Given the description of an element on the screen output the (x, y) to click on. 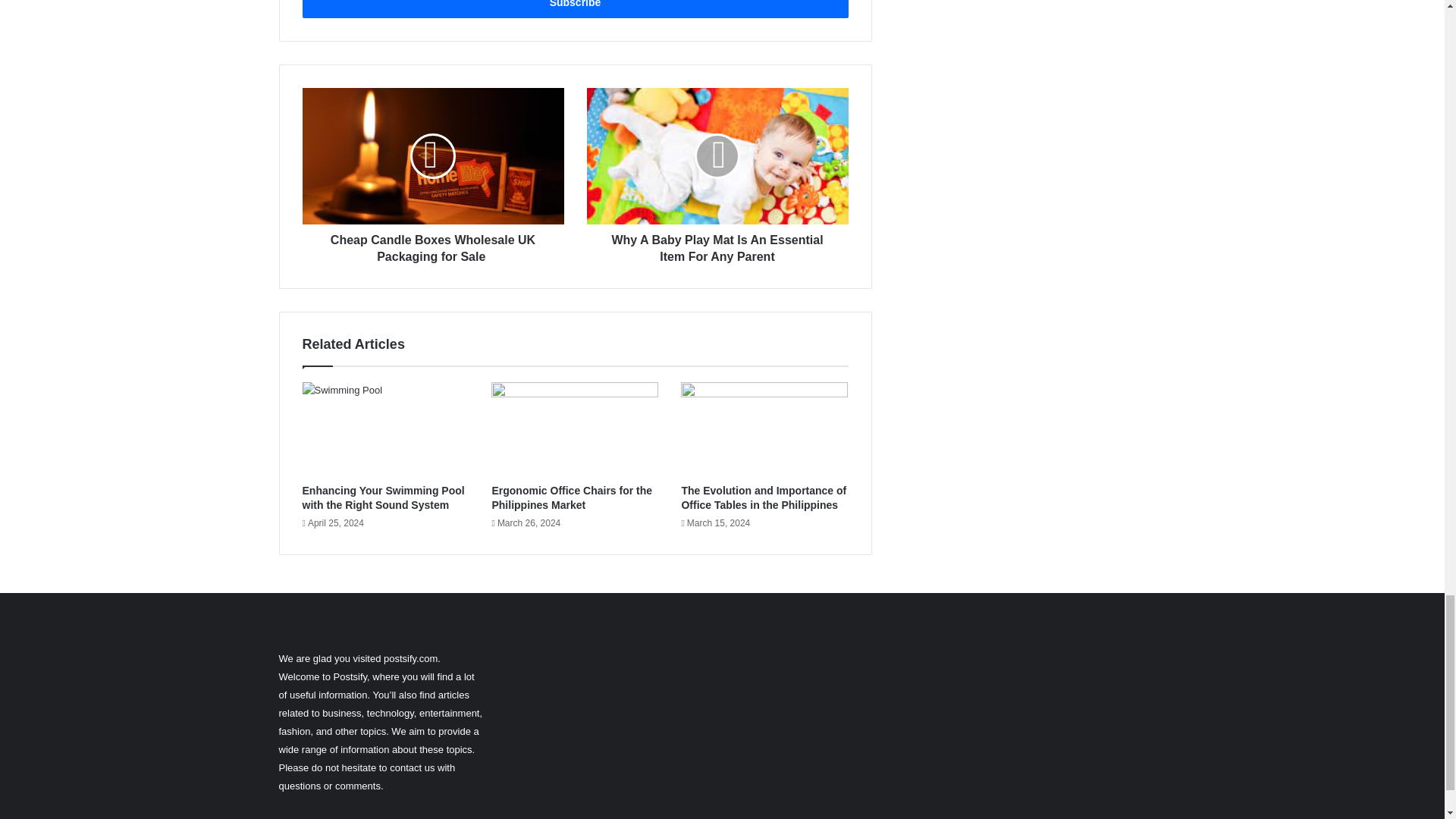
Subscribe (574, 9)
